Given the description of an element on the screen output the (x, y) to click on. 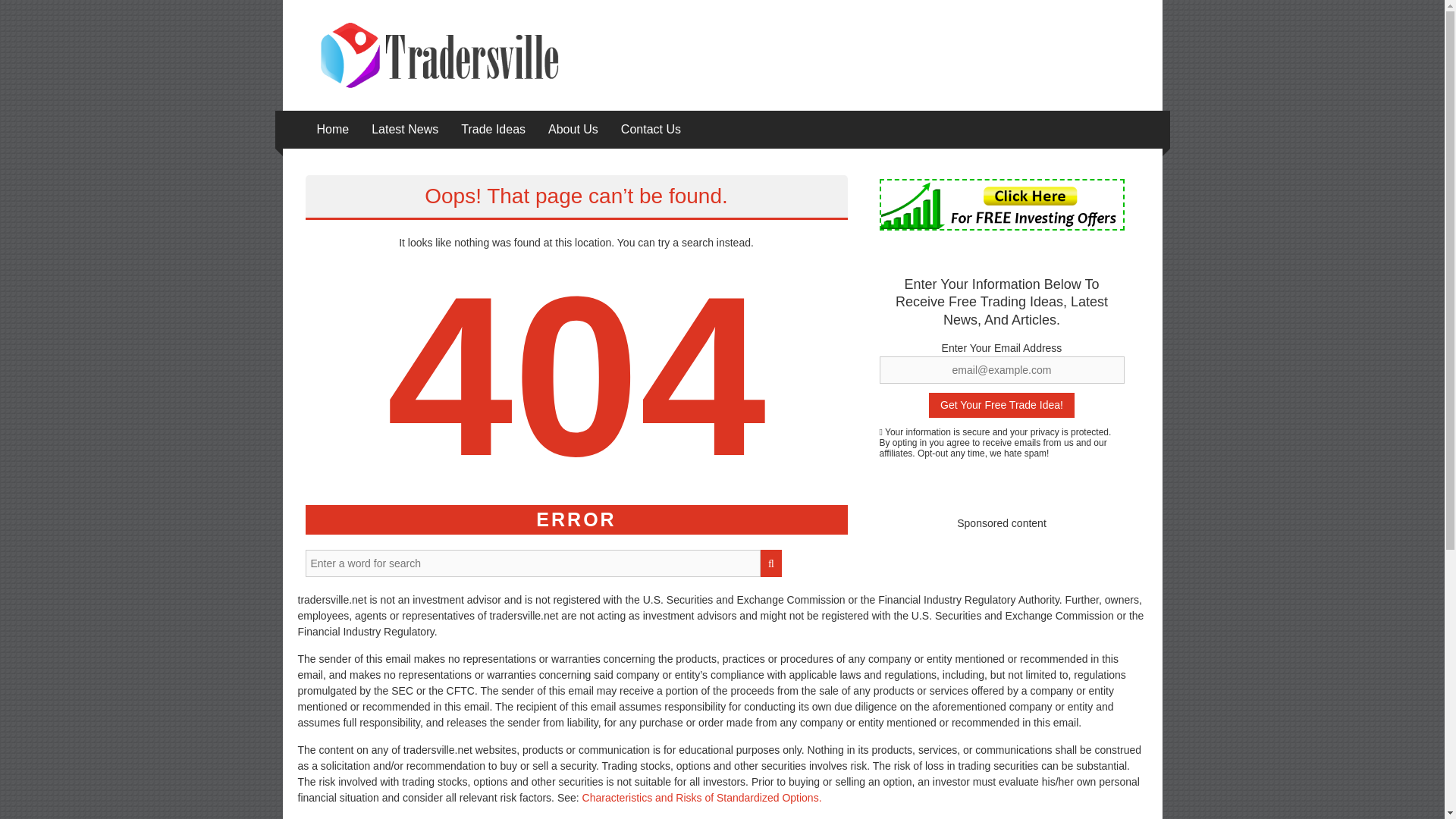
Characteristics and Risks of Standardized Options. (702, 797)
Trade Ideas (493, 129)
Latest News (404, 129)
About Us (573, 129)
Get Your Free Trade Idea! (1001, 405)
Contact Us (651, 129)
